Given the description of an element on the screen output the (x, y) to click on. 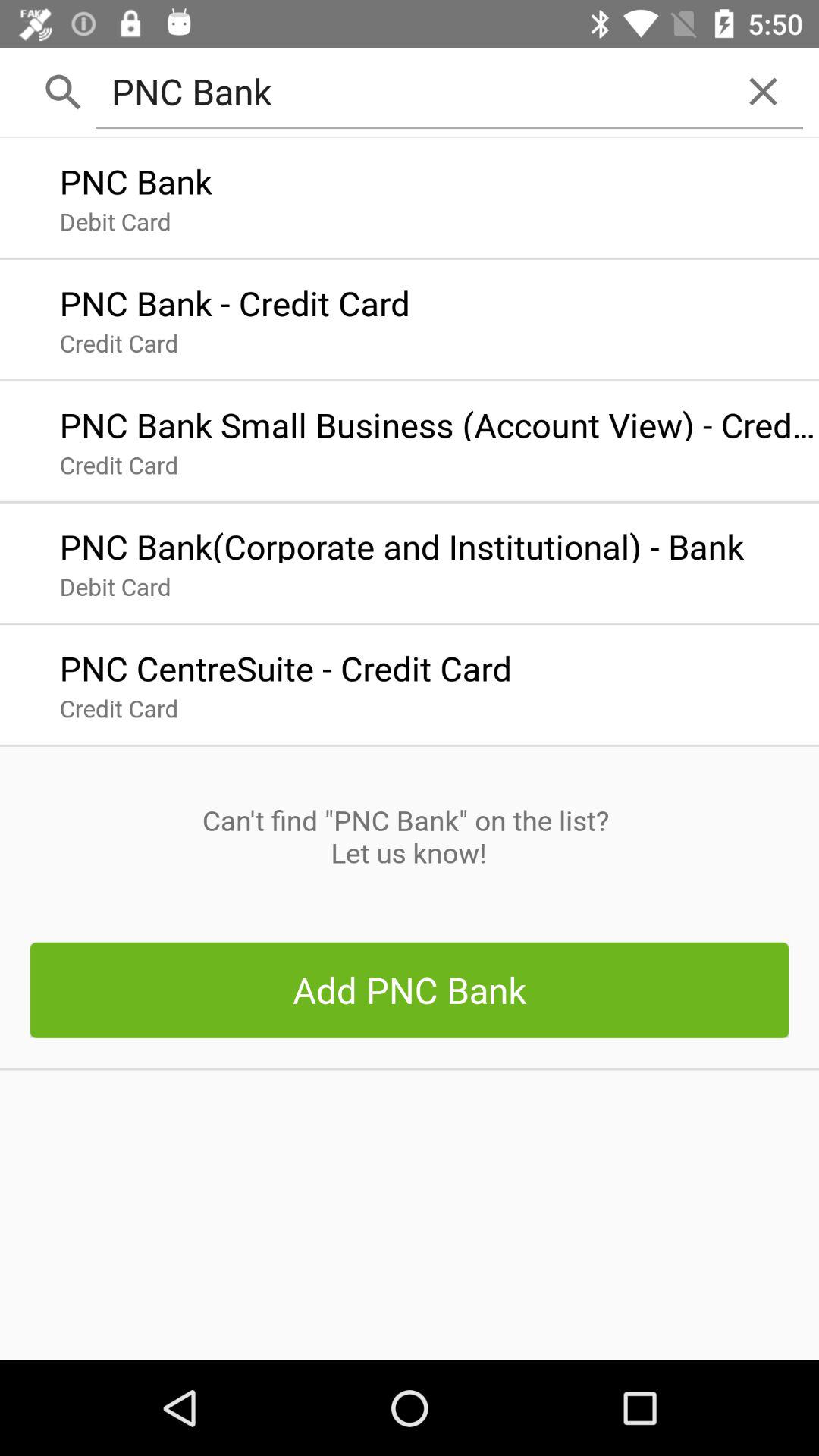
open app below the debit card item (285, 664)
